Given the description of an element on the screen output the (x, y) to click on. 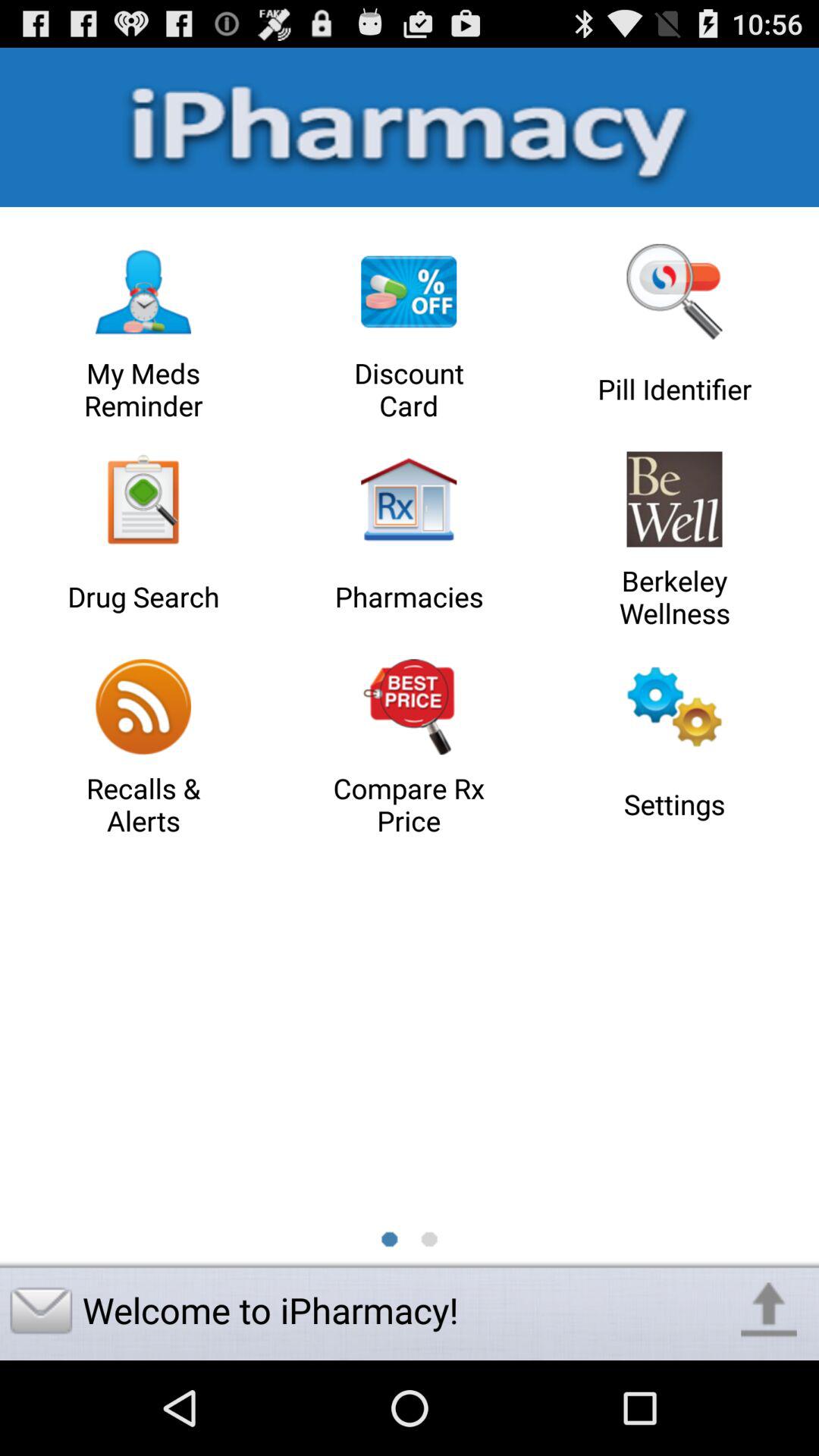
click to download option (768, 1310)
